Given the description of an element on the screen output the (x, y) to click on. 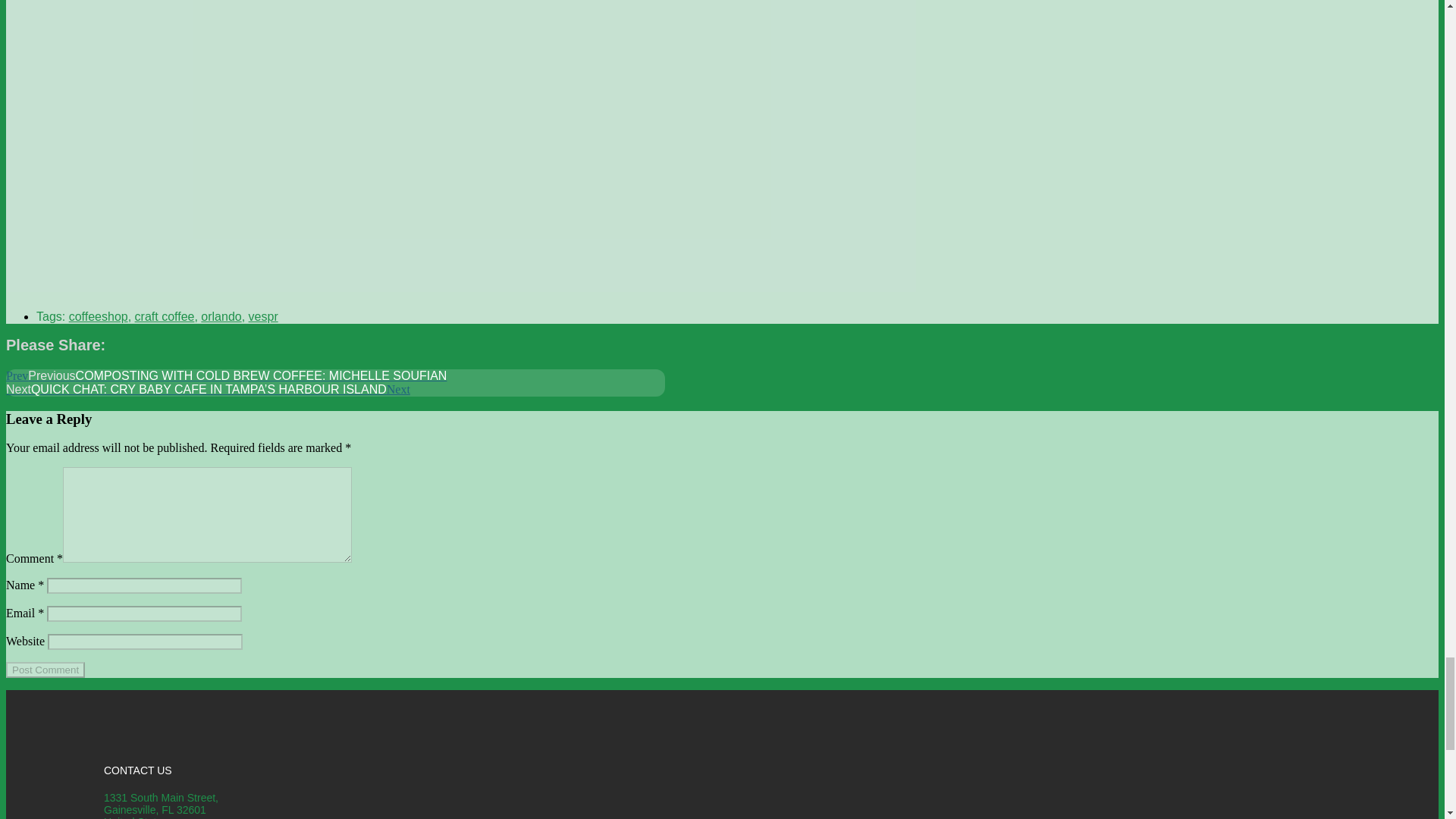
Post Comment (44, 669)
